Given the description of an element on the screen output the (x, y) to click on. 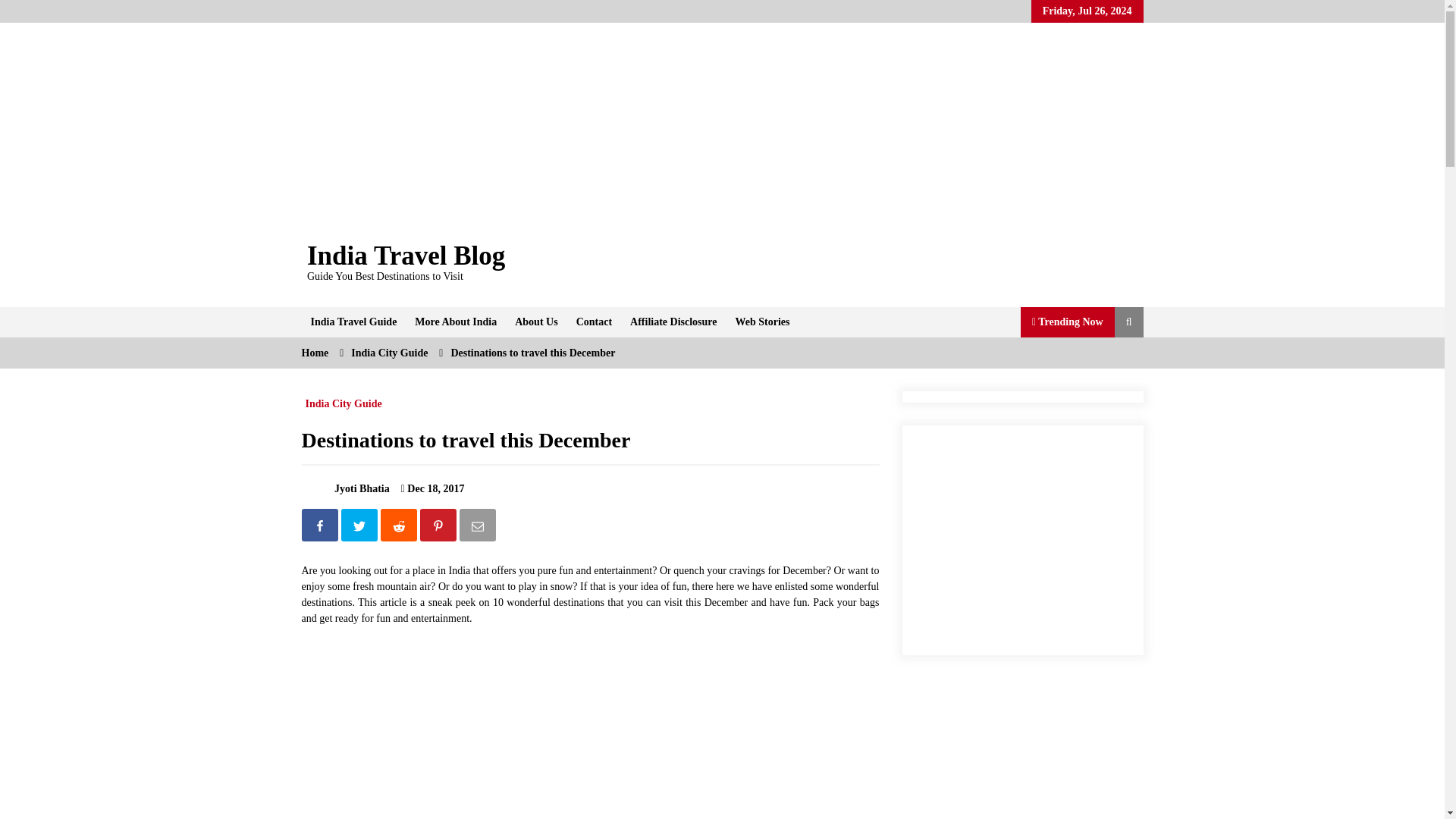
More (455, 322)
Share on Reddit (400, 527)
India Travel Guide (353, 322)
Pin (440, 527)
Contact (594, 322)
Destinations to travel this December (406, 730)
Share on Facebook (320, 527)
More About India (455, 322)
India Travel Blog (406, 255)
Affiliate Disclosure (673, 322)
Tweet (360, 527)
About Us (535, 322)
Email (479, 527)
Web Stories (762, 322)
